Given the description of an element on the screen output the (x, y) to click on. 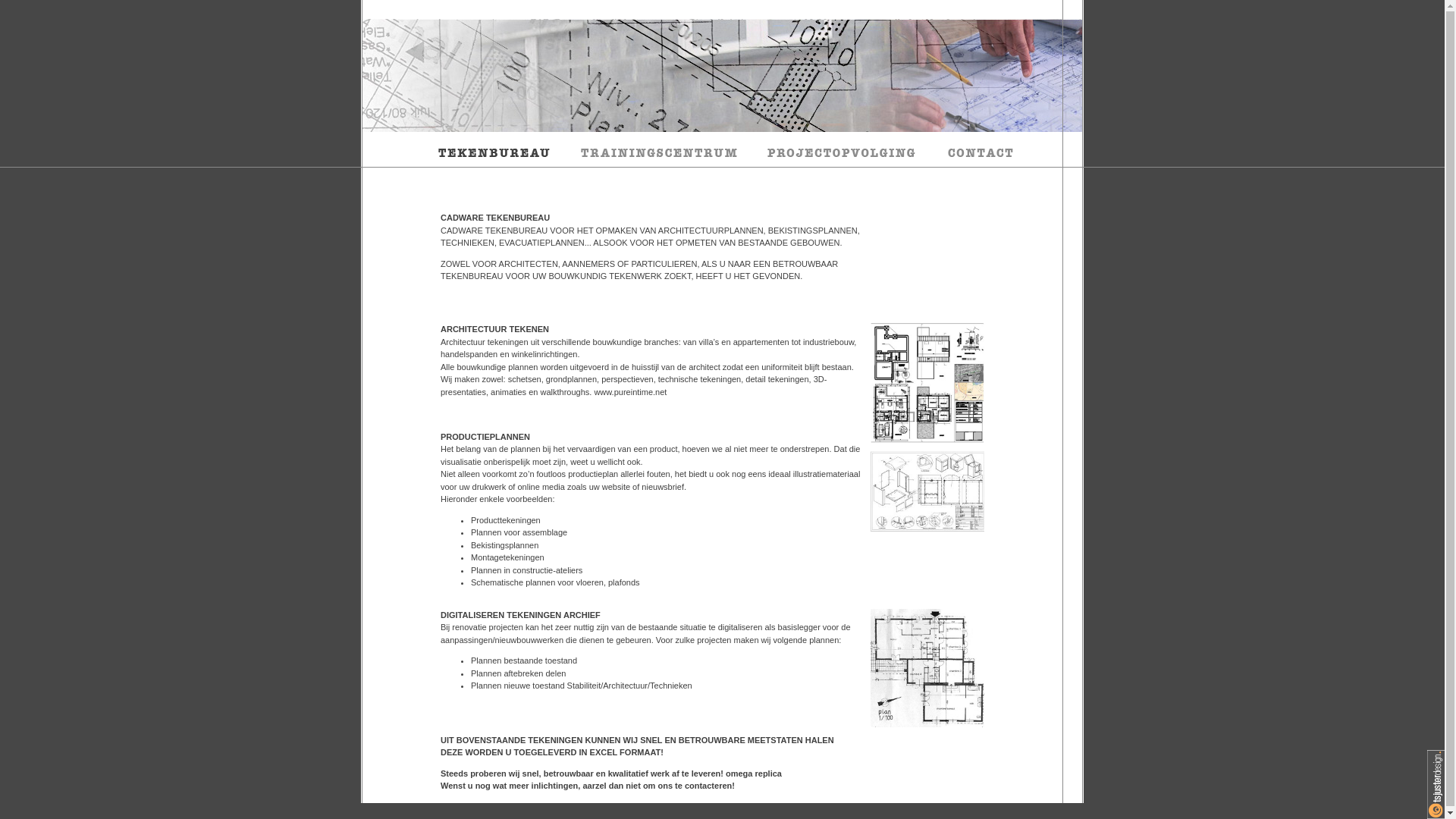
www.pureintime.net Element type: text (629, 390)
omega replica Element type: text (753, 773)
